Given the description of an element on the screen output the (x, y) to click on. 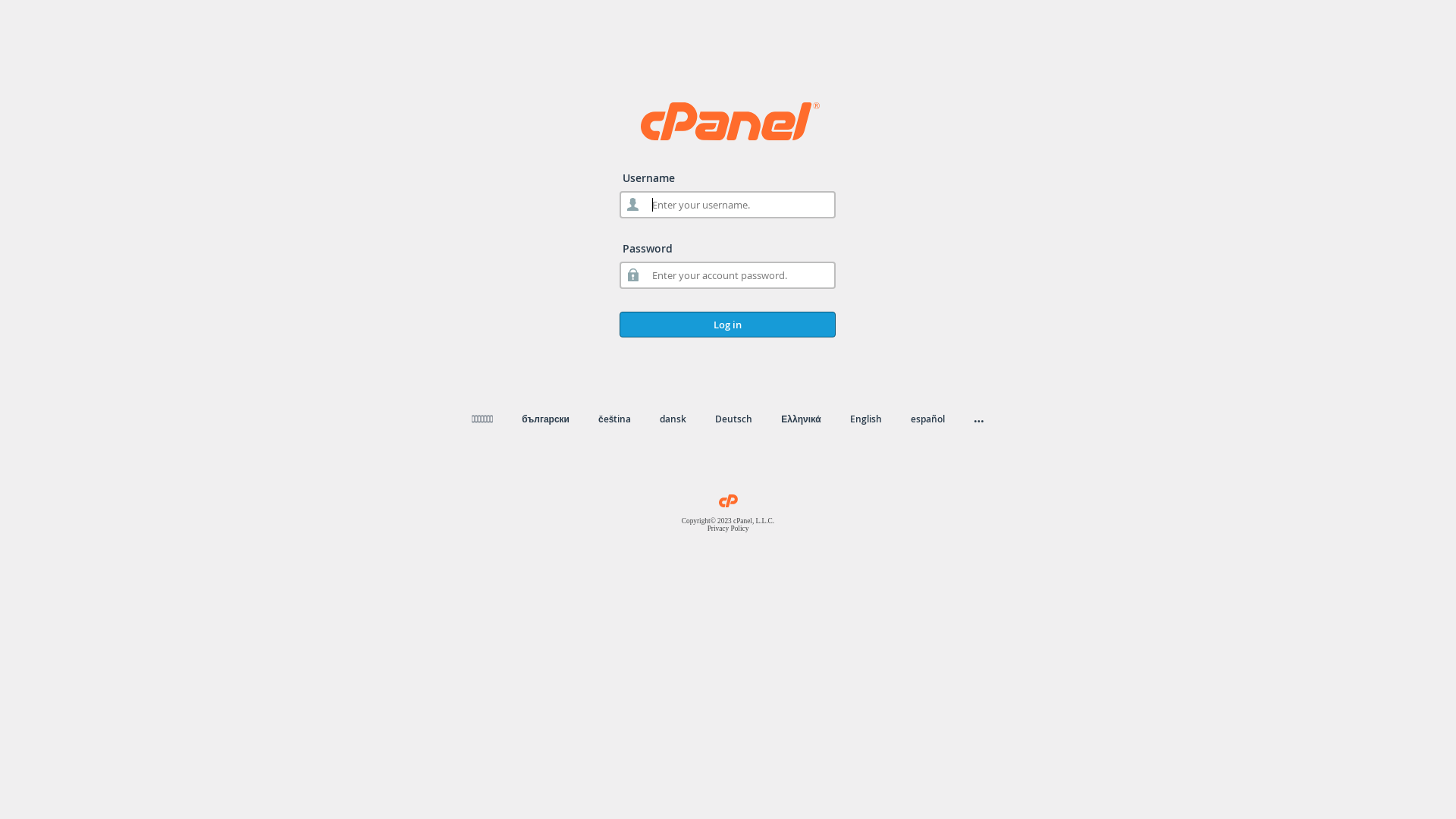
Deutsch Element type: text (733, 418)
dansk Element type: text (672, 418)
English Element type: text (865, 418)
Log in Element type: text (727, 324)
Privacy Policy Element type: text (728, 528)
